Given the description of an element on the screen output the (x, y) to click on. 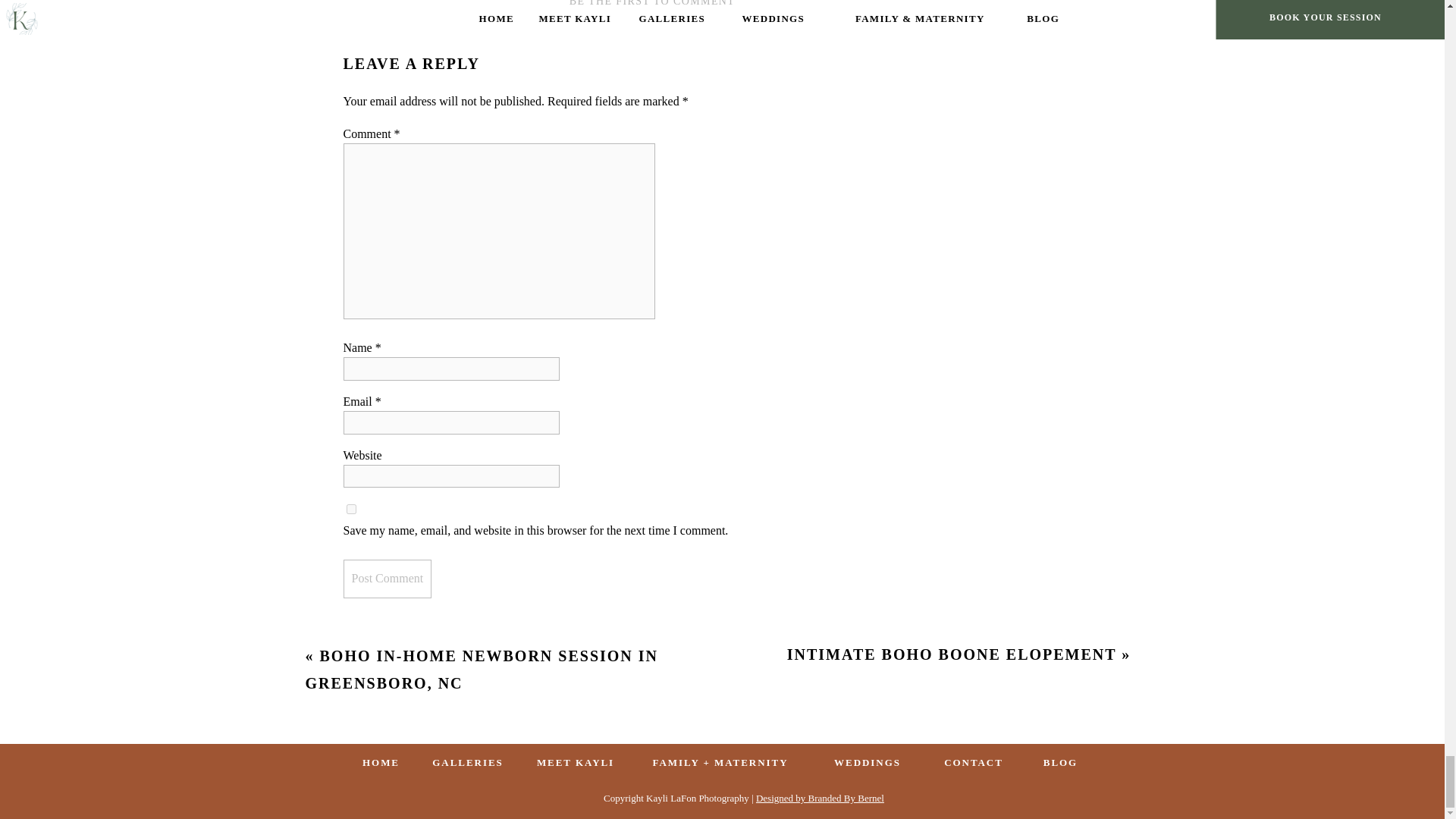
Designed by Branded By Bernel (819, 797)
yes (350, 509)
Post Comment (386, 578)
Post Comment (386, 578)
BOHO IN-HOME NEWBORN SESSION IN GREENSBORO, NC (481, 669)
MEET KAYLI (575, 763)
CONTACT (973, 763)
GALLERIES (468, 763)
BE THE FIRST TO COMMENT (652, 3)
INTIMATE BOHO BOONE ELOPEMENT (951, 654)
